Given the description of an element on the screen output the (x, y) to click on. 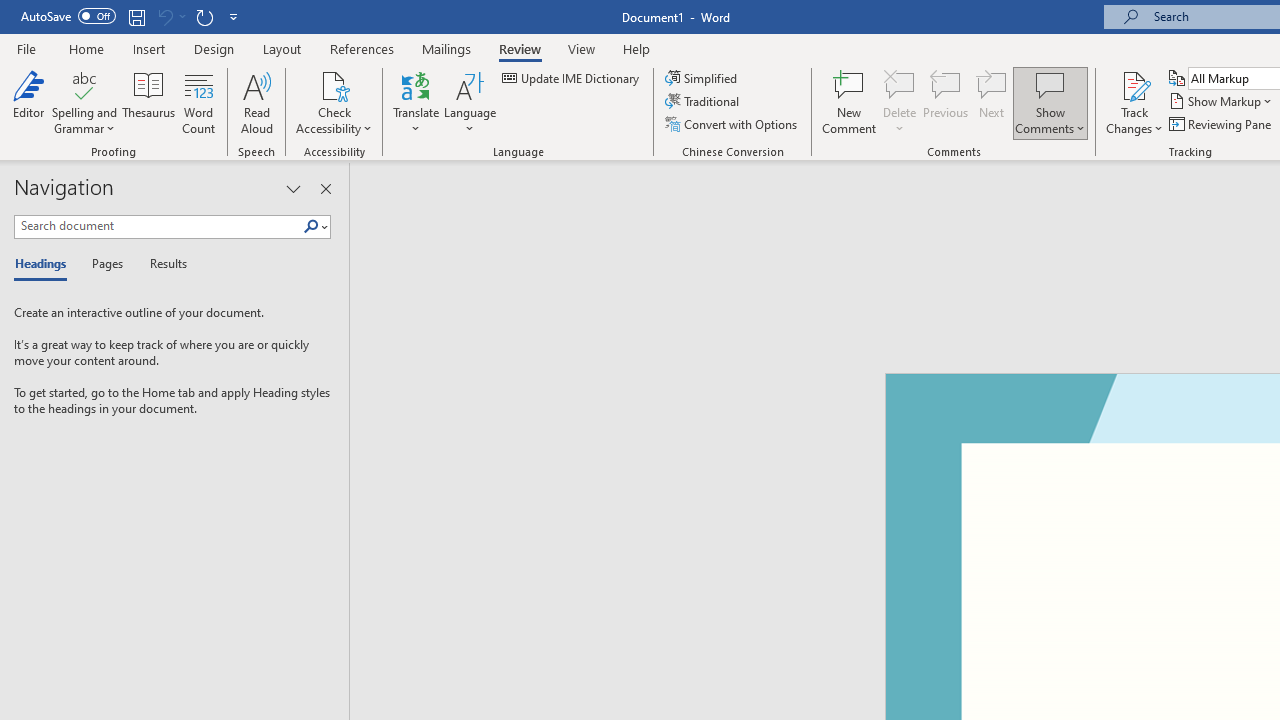
View (582, 48)
Word Count (198, 102)
Design (214, 48)
Check Accessibility (334, 84)
Repeat Doc Close (204, 15)
Home (86, 48)
Save (136, 15)
Traditional (703, 101)
Next (991, 102)
Reviewing Pane (1221, 124)
Translate (415, 102)
Show Comments (1050, 84)
